Given the description of an element on the screen output the (x, y) to click on. 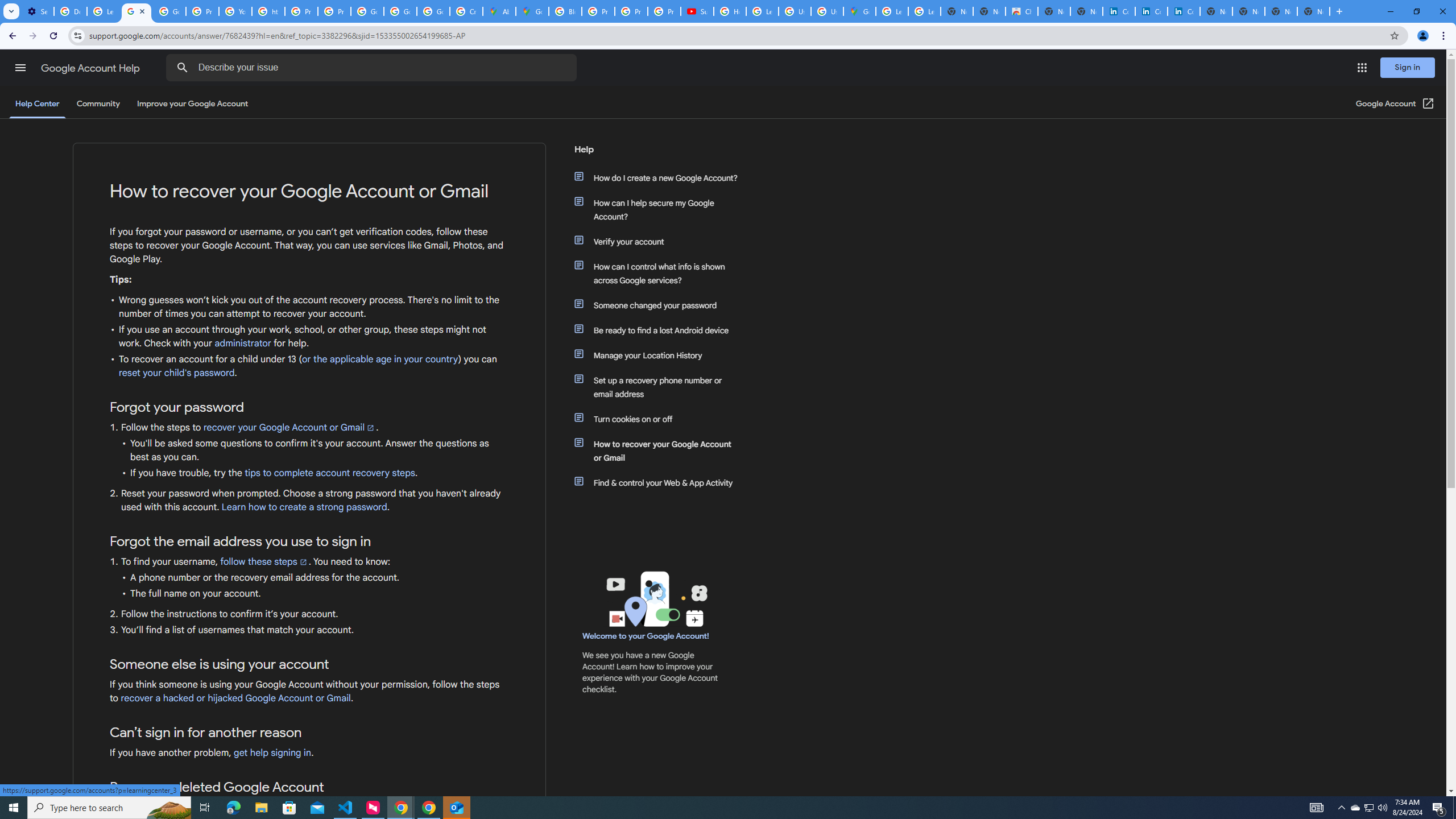
Privacy Help Center - Policies Help (631, 11)
reset your child's password (176, 372)
Improve your Google Account (192, 103)
How to recover your Google Account or Gmail (661, 450)
Be ready to find a lost Android device (661, 330)
Google Account (Open in a new window) (1395, 103)
Blogger Policies and Guidelines - Transparency Center (564, 11)
Privacy Help Center - Policies Help (598, 11)
